Given the description of an element on the screen output the (x, y) to click on. 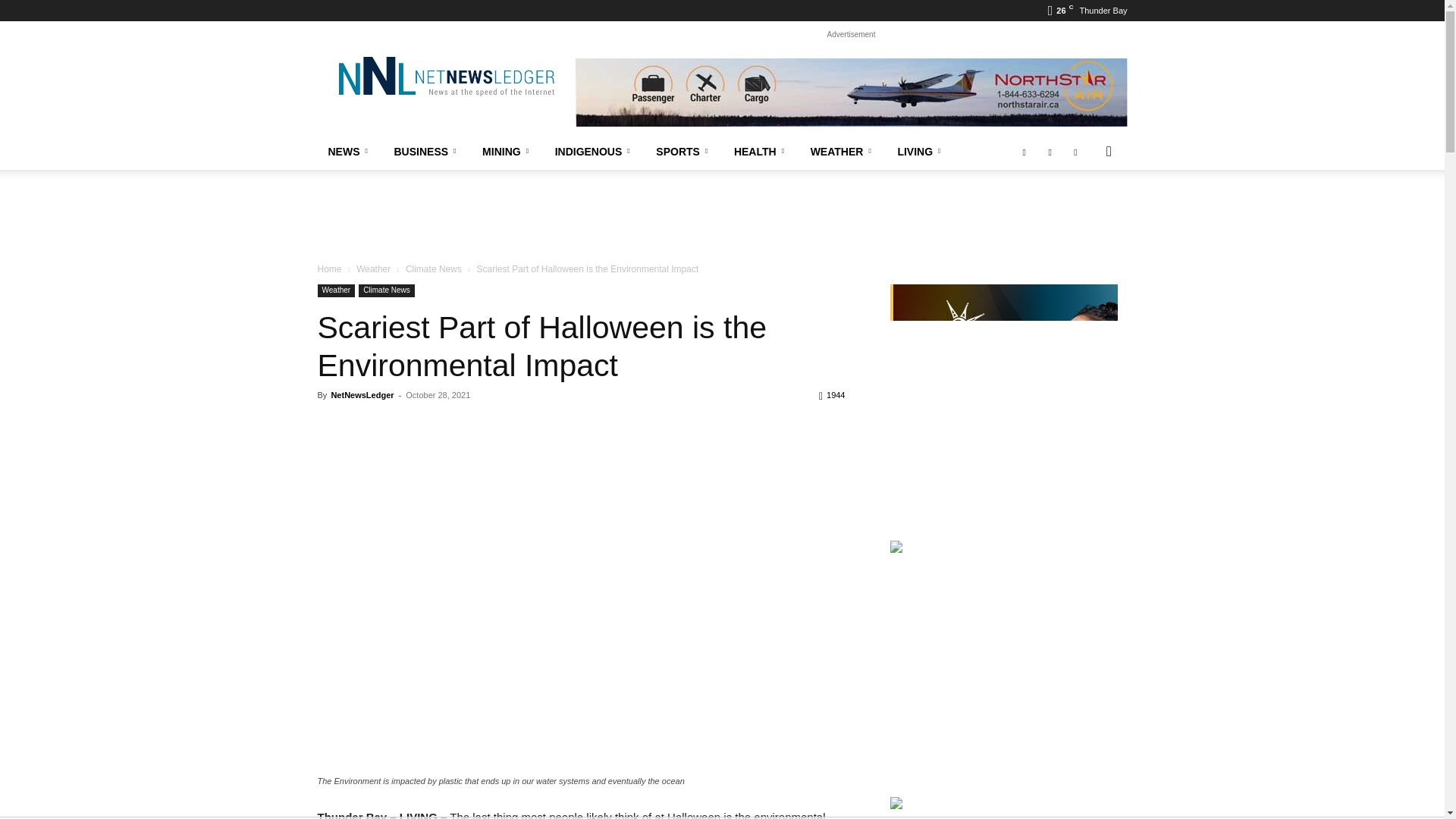
North Star Air (850, 92)
NetNewsLedger (445, 76)
View all posts in Climate News (433, 268)
View all posts in Weather (373, 268)
